Given the description of an element on the screen output the (x, y) to click on. 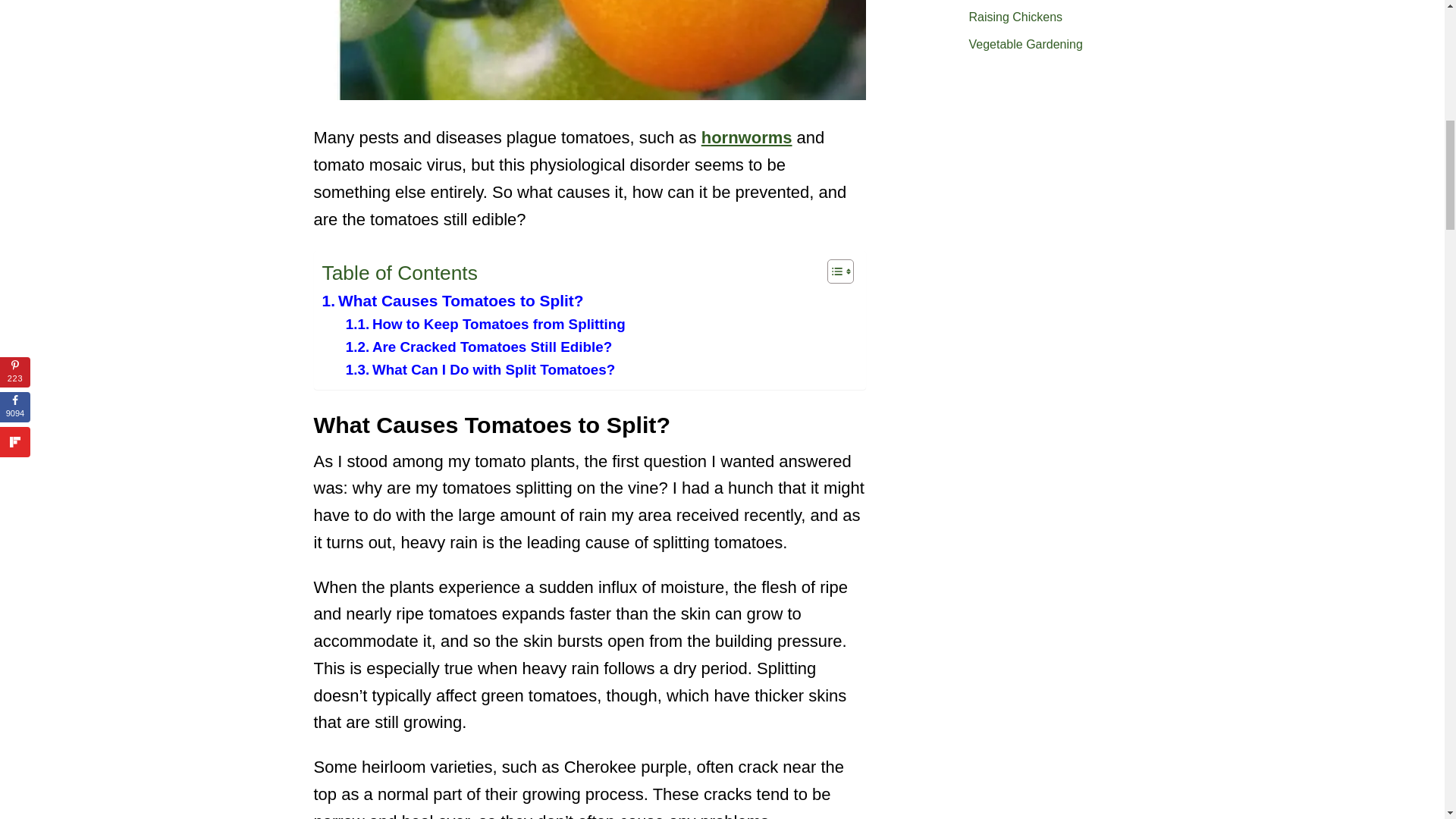
What Can I Do with Split Tomatoes? (480, 369)
hornworms (746, 137)
What Causes Tomatoes to Split? (452, 300)
What Can I Do with Split Tomatoes? (480, 369)
Are Cracked Tomatoes Still Edible? (478, 346)
How to Keep Tomatoes from Splitting (486, 323)
Are Cracked Tomatoes Still Edible? (478, 346)
What Causes Tomatoes to Split? (452, 300)
How to Keep Tomatoes from Splitting (486, 323)
